Given the description of an element on the screen output the (x, y) to click on. 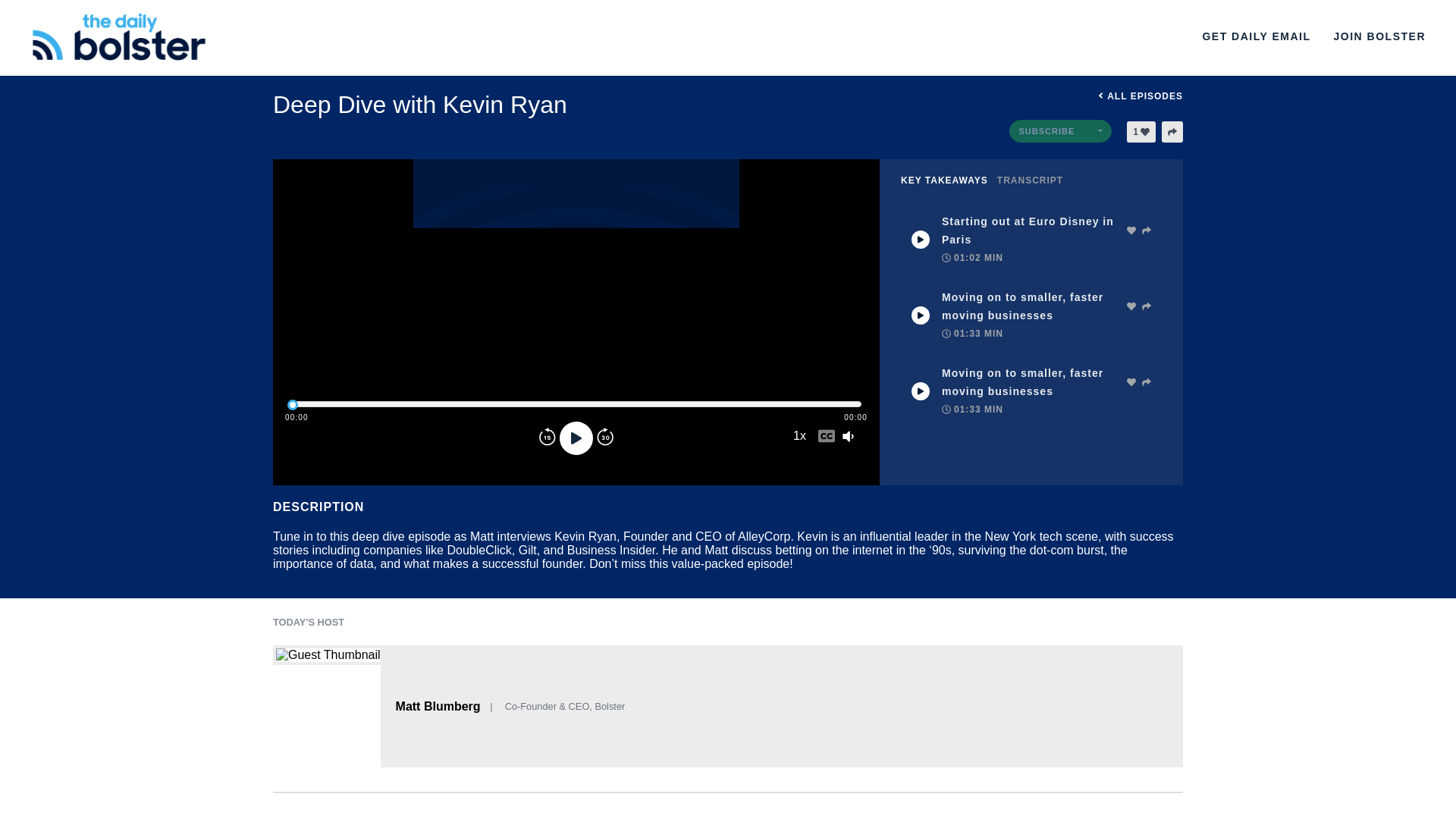
GET DAILY EMAIL (1256, 36)
SUBSCRIBE (1060, 130)
Bolster (373, 36)
Join Bolster (1379, 36)
Get Daily Email (1256, 36)
ALL EPISODES (1095, 95)
JOIN BOLSTER (1379, 36)
